Given the description of an element on the screen output the (x, y) to click on. 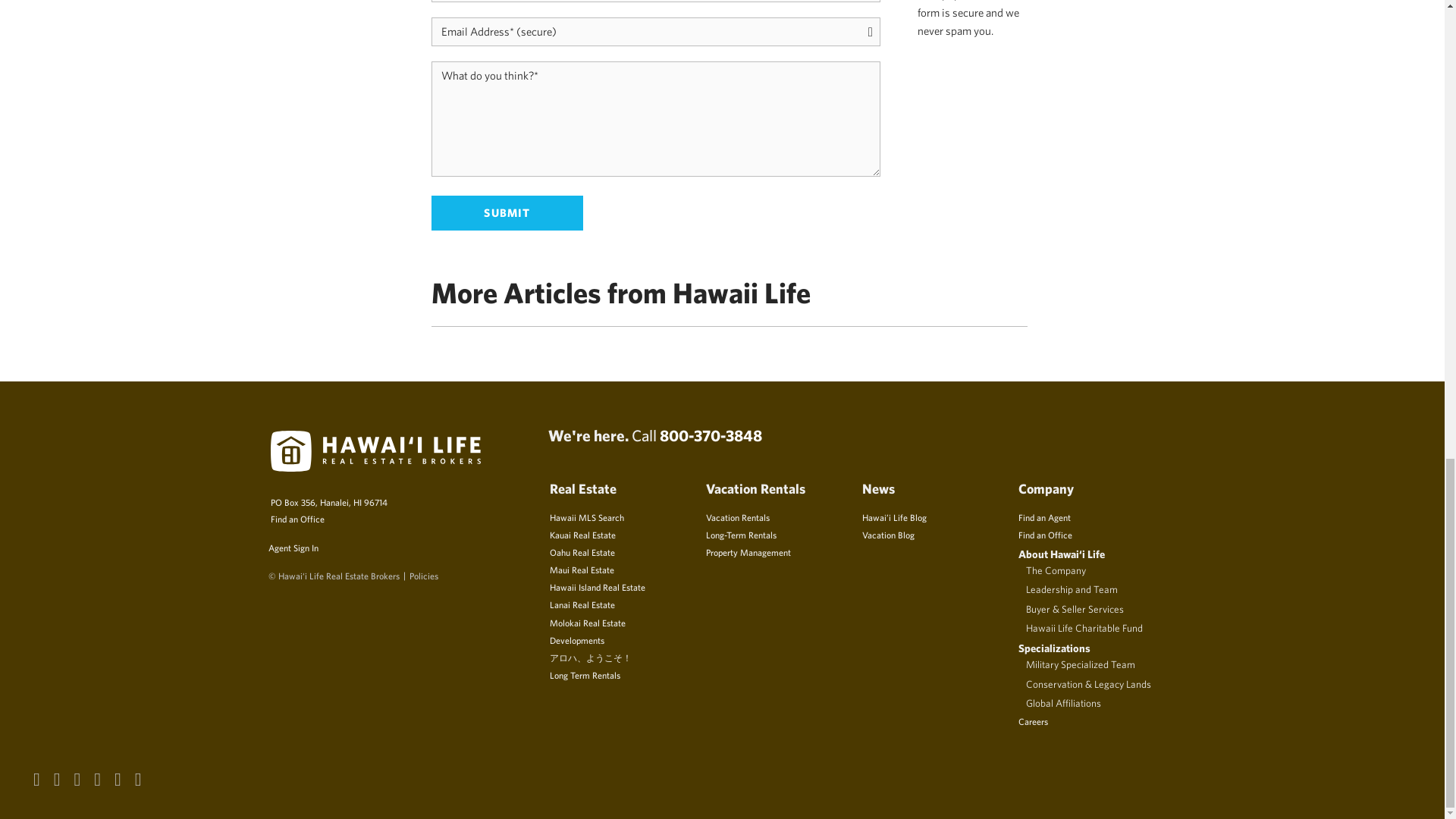
Submit (506, 212)
